Given the description of an element on the screen output the (x, y) to click on. 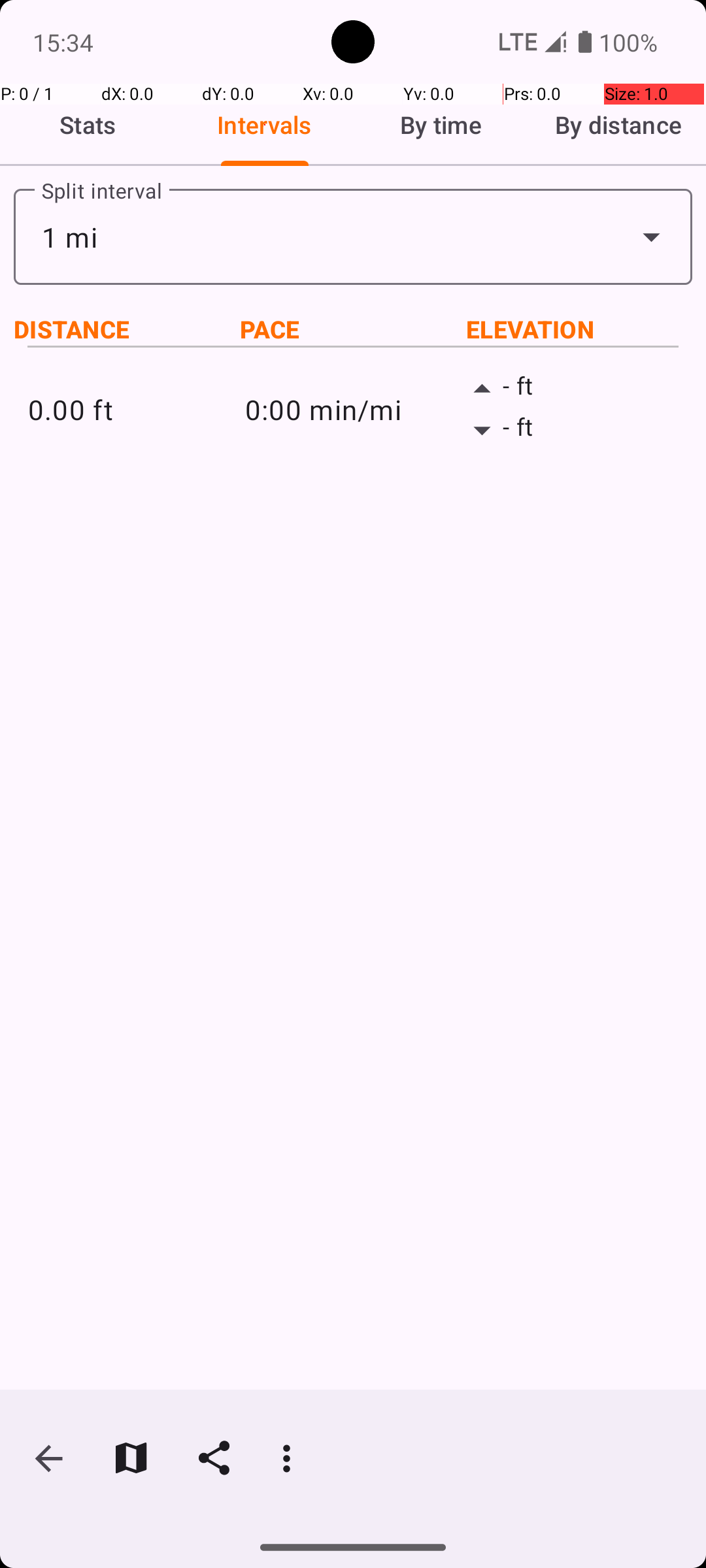
PACE Element type: android.widget.TextView (352, 328)
0:00 min/mi Element type: android.widget.TextView (352, 408)
